Given the description of an element on the screen output the (x, y) to click on. 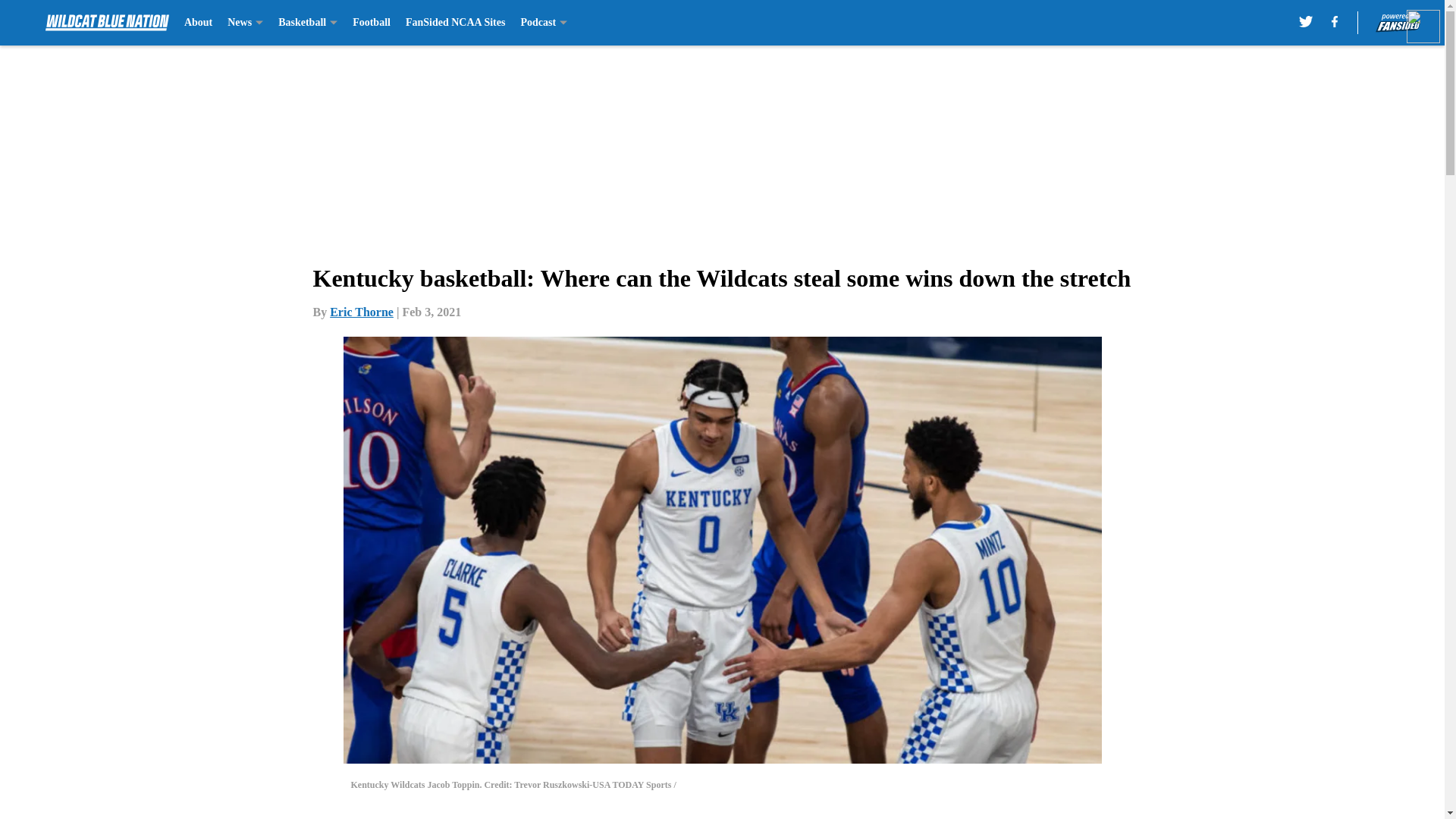
Football (371, 22)
FanSided NCAA Sites (455, 22)
About (198, 22)
Eric Thorne (361, 311)
